Given the description of an element on the screen output the (x, y) to click on. 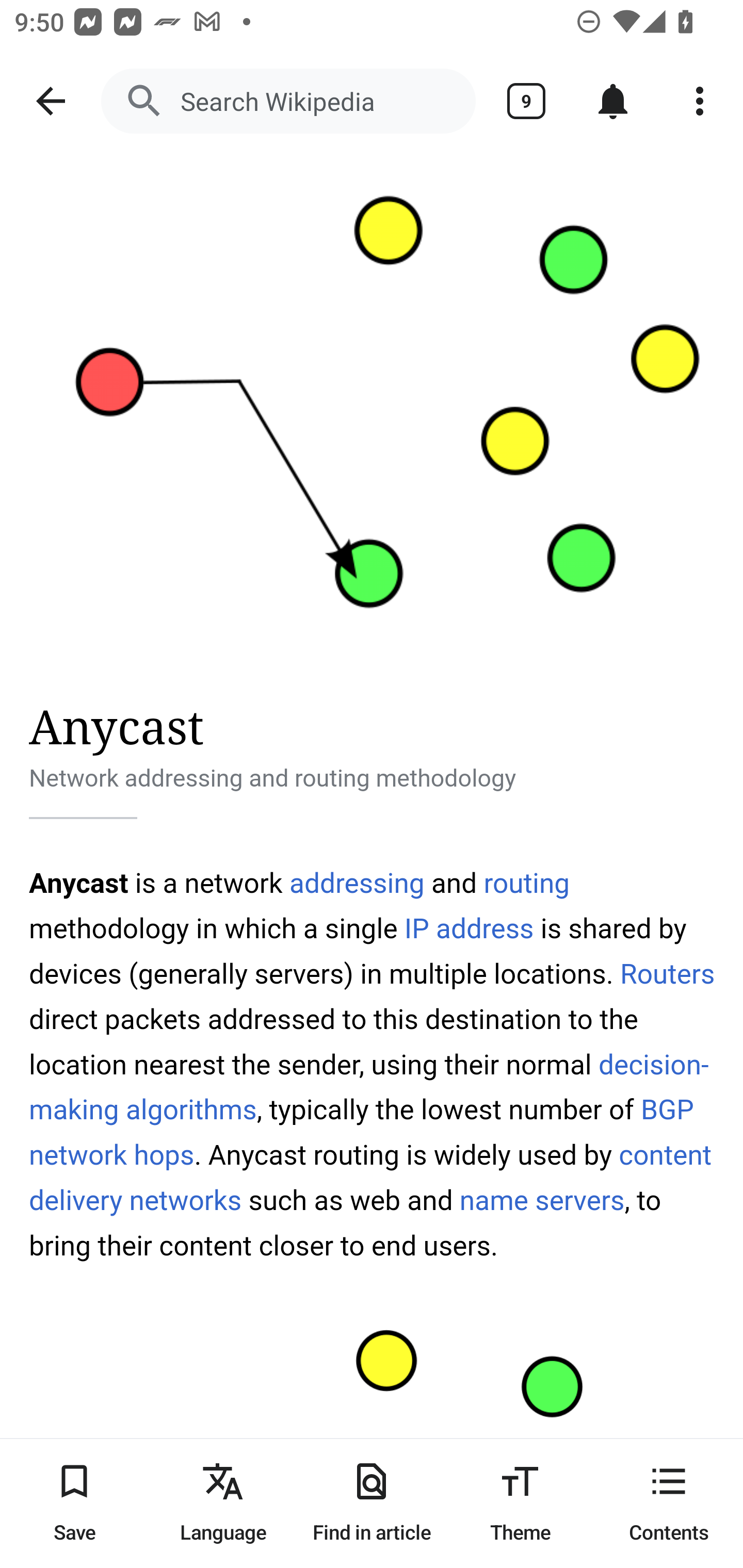
Show tabs 9 (525, 100)
Notifications (612, 100)
Navigate up (50, 101)
More options (699, 101)
Search Wikipedia (288, 100)
addressing (357, 883)
routing (526, 883)
IP address (468, 928)
Routers (667, 973)
decision-making algorithms (368, 1086)
BGP (666, 1109)
network hops (111, 1155)
content delivery networks (370, 1177)
name servers (542, 1199)
Save (74, 1502)
Language (222, 1502)
Find in article (371, 1502)
Theme (519, 1502)
Contents (668, 1502)
